Given the description of an element on the screen output the (x, y) to click on. 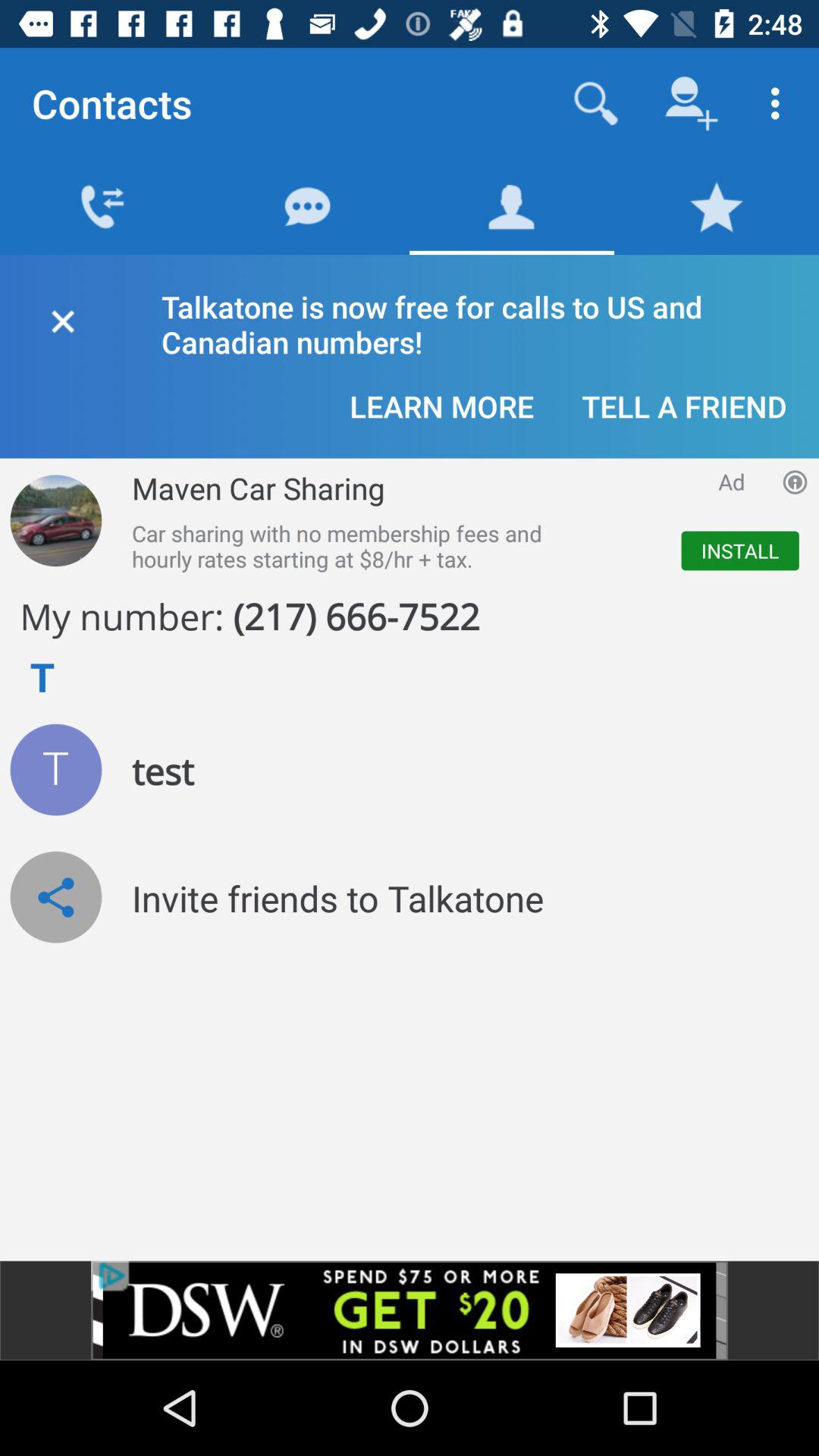
advertisement (409, 1310)
